Given the description of an element on the screen output the (x, y) to click on. 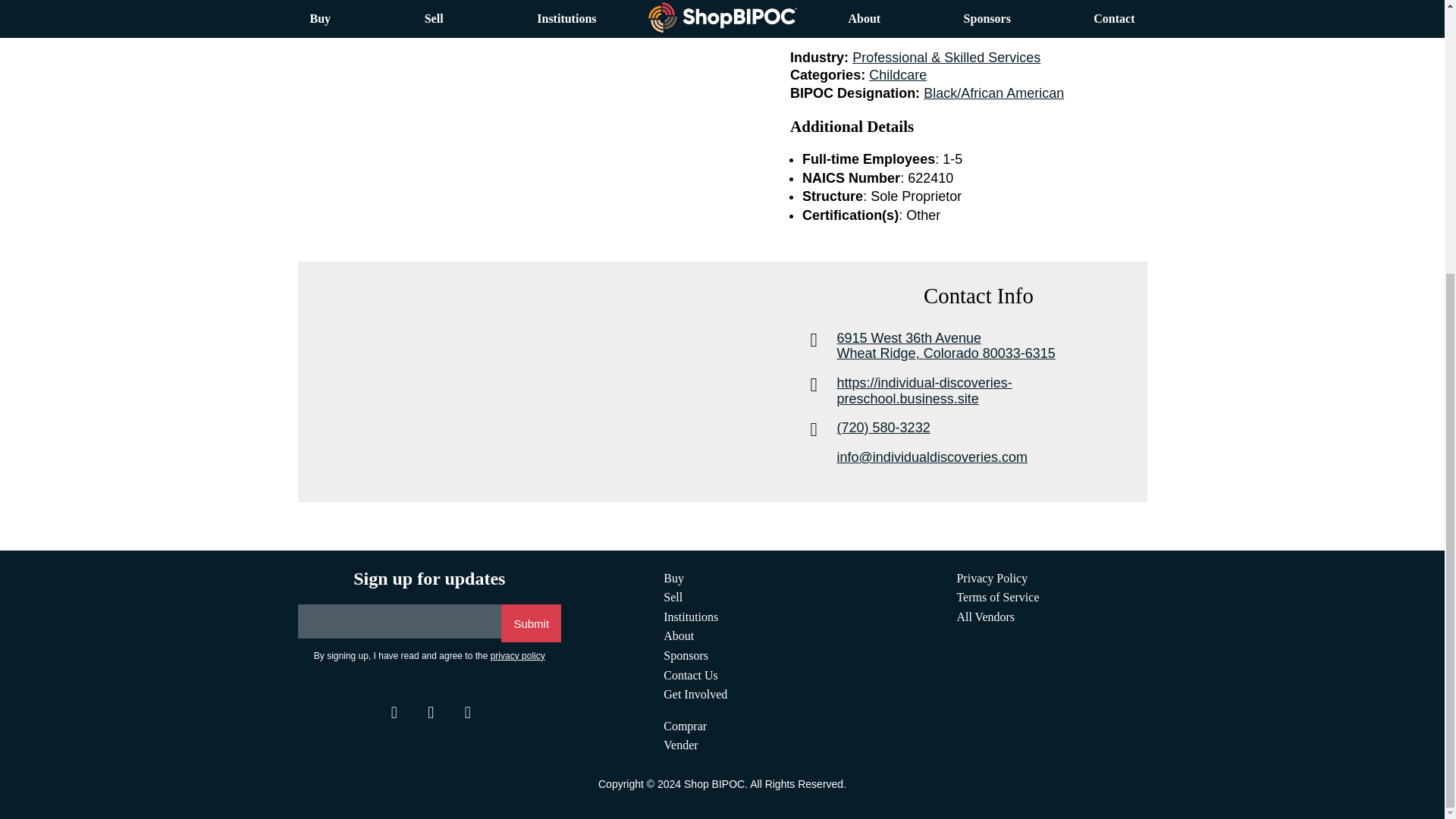
linkedin (428, 712)
Contact Us (690, 675)
Institutions (690, 616)
All Vendors (985, 616)
Submit (530, 622)
Terms of Service (997, 596)
Buy (992, 345)
Get Involved (673, 577)
privacy policy (694, 694)
Childcare (517, 655)
instagram (897, 74)
Comprar (466, 712)
facebook (684, 725)
Submit (392, 712)
